Given the description of an element on the screen output the (x, y) to click on. 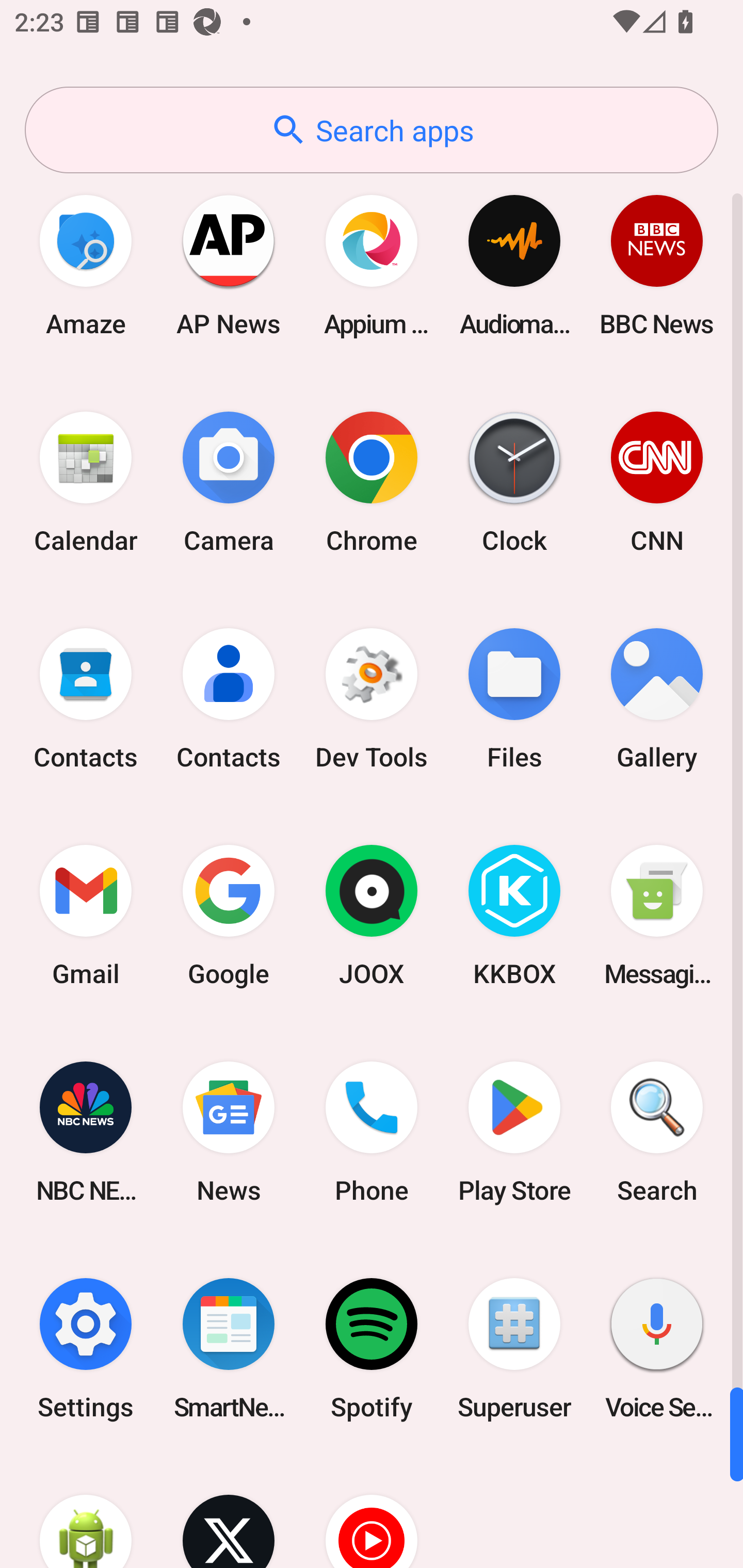
  Search apps (371, 130)
Amaze (85, 264)
AP News (228, 264)
Appium Settings (371, 264)
Audio­mack (514, 264)
BBC News (656, 264)
Calendar (85, 482)
Camera (228, 482)
Chrome (371, 482)
Clock (514, 482)
CNN (656, 482)
Contacts (85, 699)
Contacts (228, 699)
Dev Tools (371, 699)
Files (514, 699)
Gallery (656, 699)
Gmail (85, 915)
Google (228, 915)
JOOX (371, 915)
KKBOX (514, 915)
Messaging (656, 915)
NBC NEWS (85, 1131)
News (228, 1131)
Phone (371, 1131)
Play Store (514, 1131)
Search (656, 1131)
Settings (85, 1348)
SmartNews (228, 1348)
Spotify (371, 1348)
Superuser (514, 1348)
Voice Search (656, 1348)
WebView Browser Tester (85, 1512)
X (228, 1512)
YT Music (371, 1512)
